Given the description of an element on the screen output the (x, y) to click on. 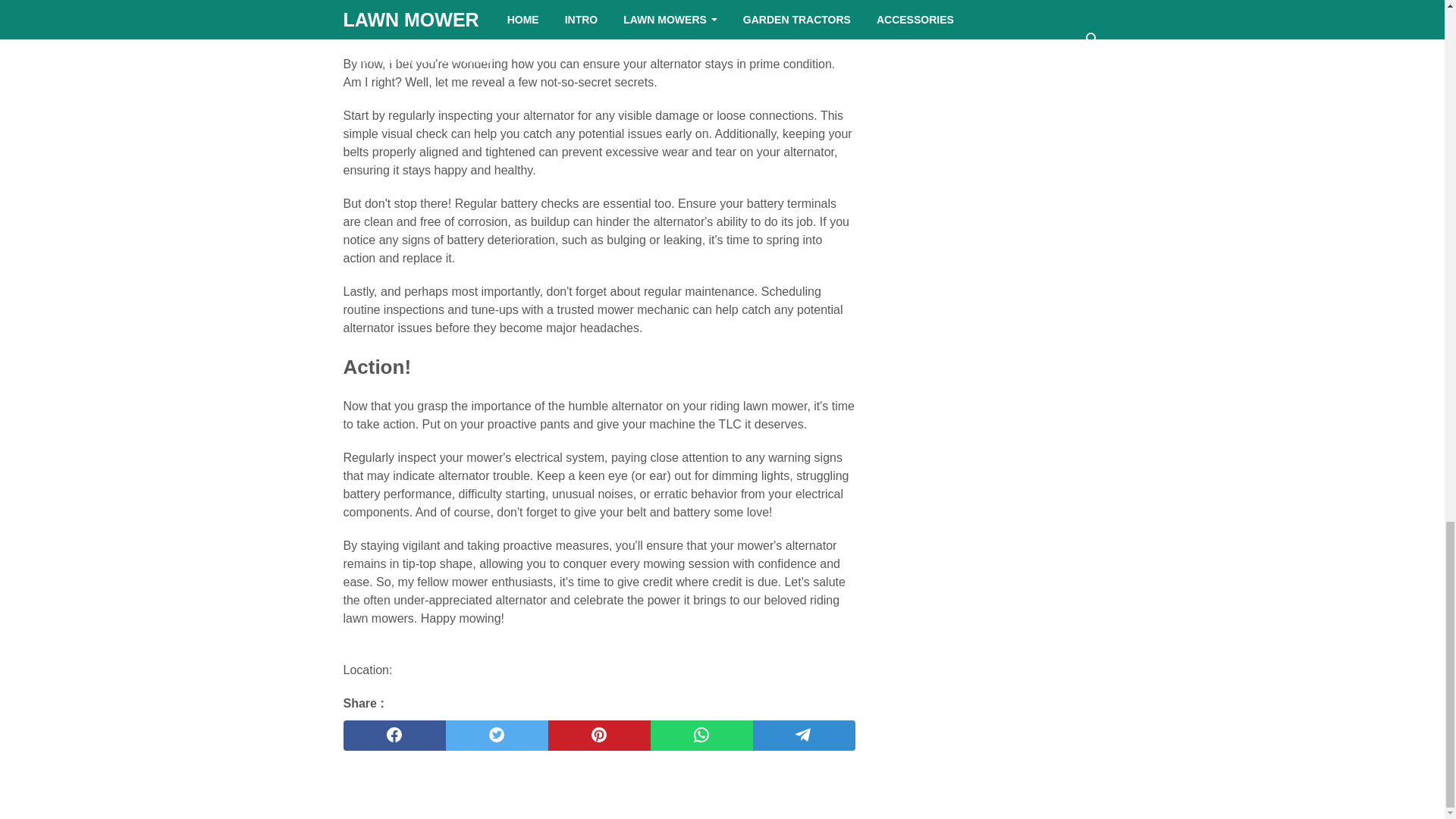
whatsapp (701, 735)
pinterest (598, 735)
facebook (393, 735)
twitter (496, 735)
telegram (803, 735)
